Given the description of an element on the screen output the (x, y) to click on. 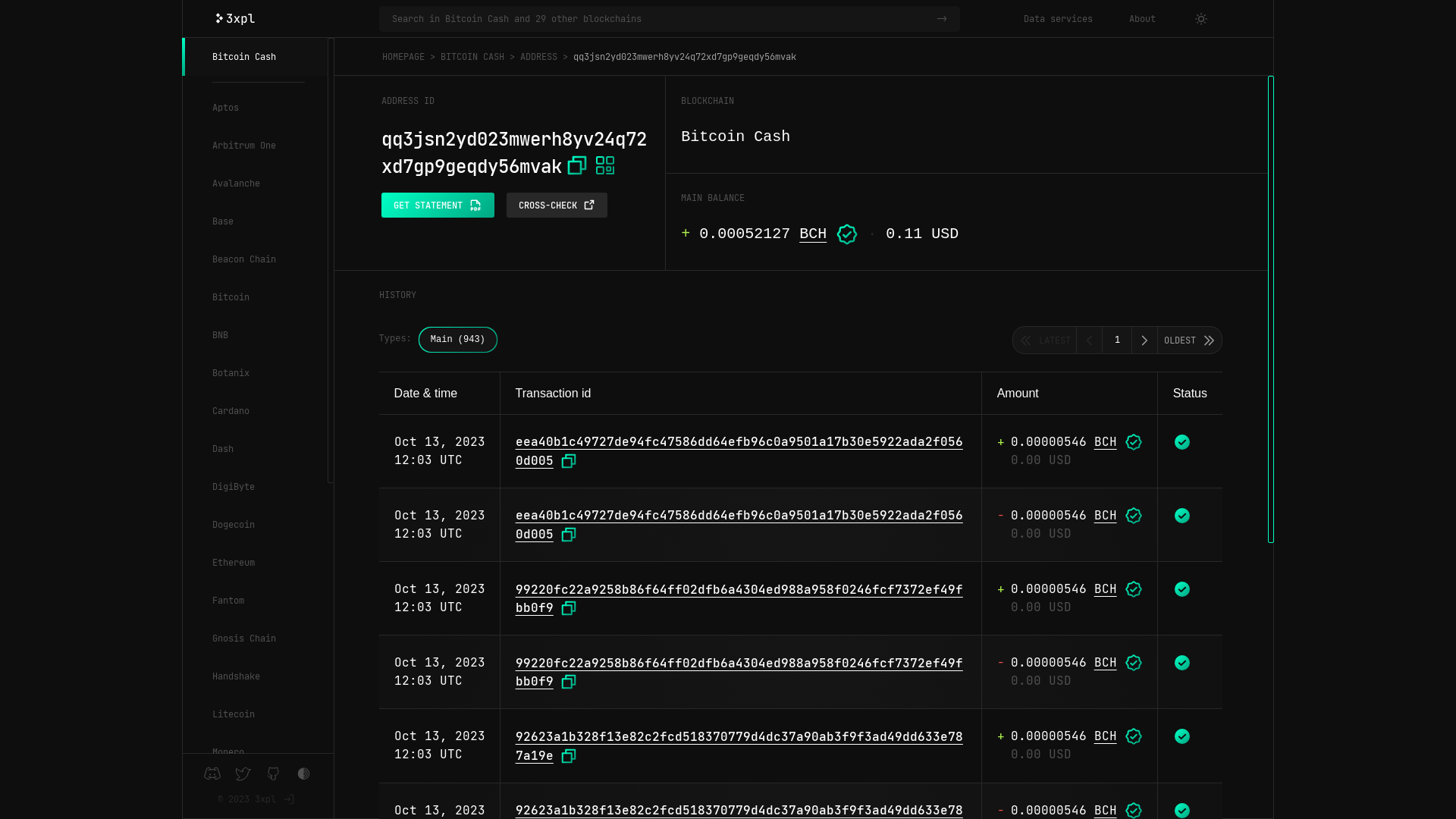
-> Element type: text (944, 18)
Beacon Chain Element type: text (254, 259)
Fantom Element type: text (254, 600)
DigiByte Element type: text (254, 486)
Dash Element type: text (254, 448)
Handshake Element type: text (254, 676)
Aptos Element type: text (254, 107)
LATEST Element type: text (1044, 339)
OLDEST Element type: text (1189, 339)
BITCOIN CASH Element type: text (472, 56)
Litecoin Element type: text (254, 714)
BCH Element type: text (1105, 810)
Dogecoin Element type: text (254, 524)
BNB Element type: text (254, 335)
Avalanche Element type: text (254, 183)
Base Element type: text (254, 221)
Monero Element type: text (254, 752)
Ethereum Element type: text (254, 562)
GET STATEMENT Element type: text (437, 204)
Botanix Element type: text (254, 373)
Bitcoin Cash Element type: text (254, 56)
Cardano Element type: text (254, 410)
BCH Element type: text (1105, 735)
BCH Element type: text (1105, 662)
BCH Element type: text (1105, 515)
Gnosis Chain Element type: text (254, 638)
BCH Element type: text (1105, 441)
Bitcoin Element type: text (254, 297)
Arbitrum One Element type: text (254, 145)
BCH Element type: text (1105, 588)
HOMEPAGE Element type: text (403, 56)
opBNB Element type: text (254, 790)
BCH Element type: text (812, 233)
